Given the description of an element on the screen output the (x, y) to click on. 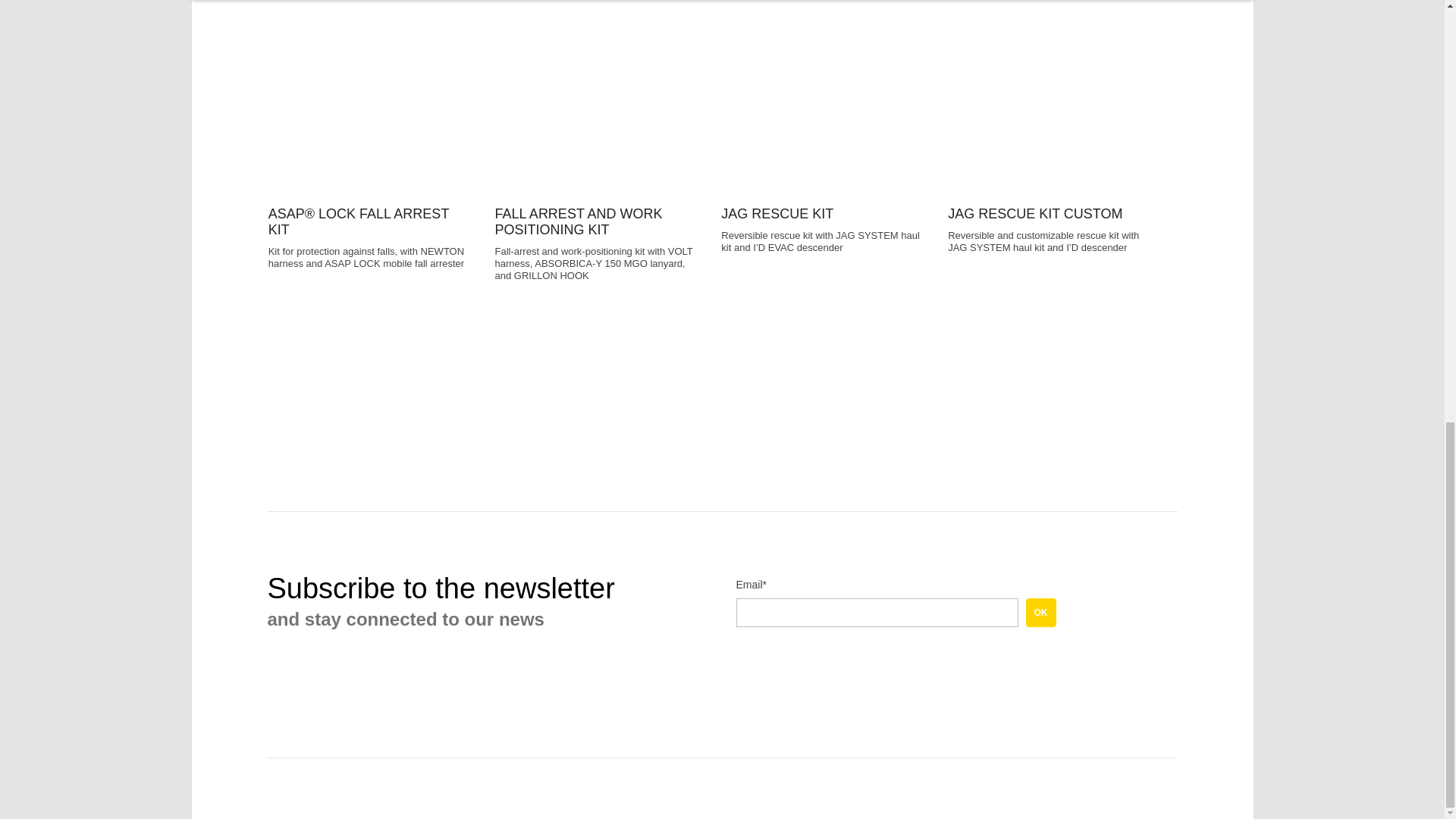
JAG RESCUE KIT CUSTOM (1050, 109)
JAG RESCUE KIT (823, 109)
FALL ARREST AND WORK POSITIONING KIT (596, 109)
